Given the description of an element on the screen output the (x, y) to click on. 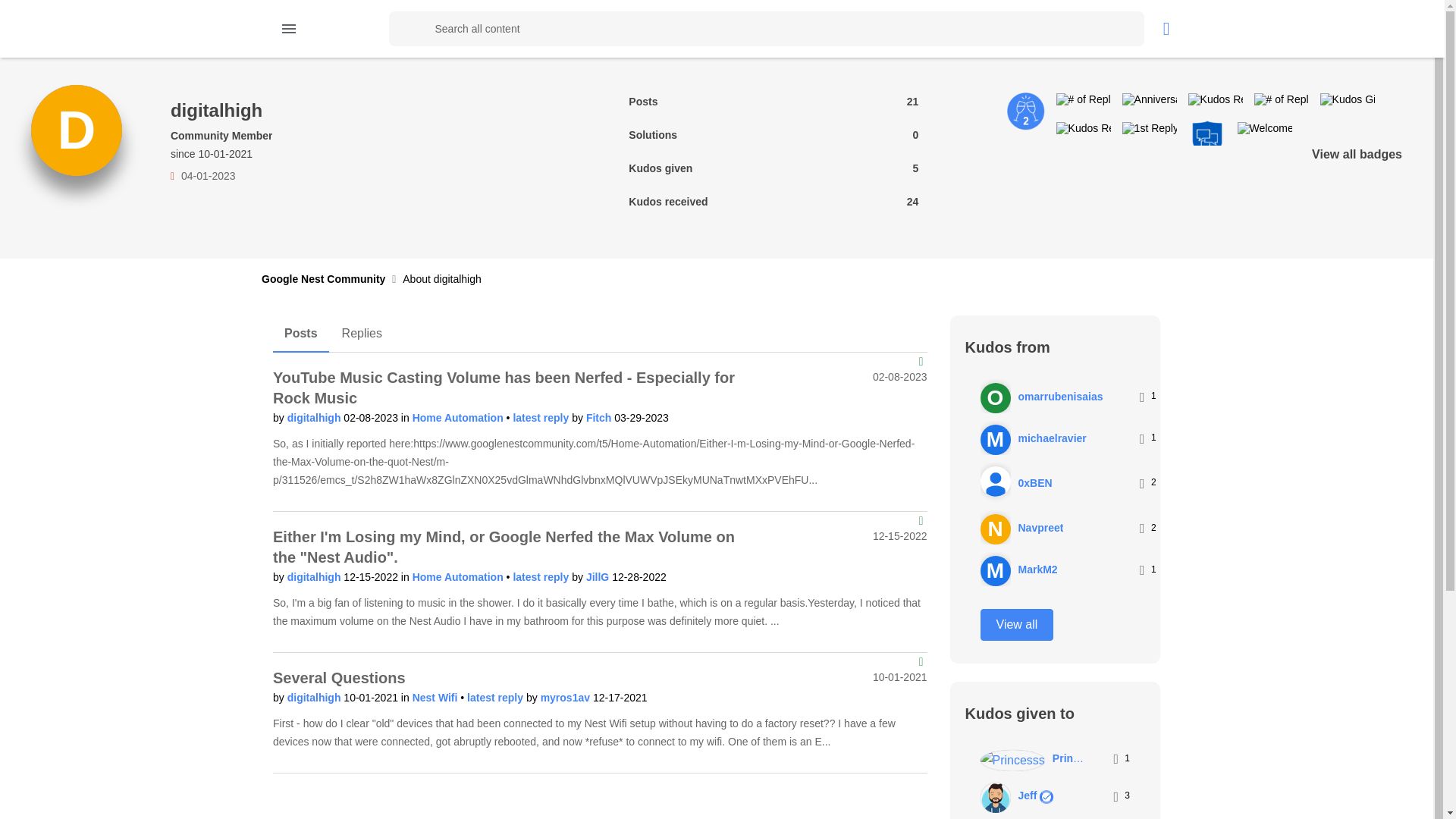
myros1av (566, 697)
digitalhigh (314, 697)
Search (405, 29)
Search (405, 29)
Anniversary 2 (1026, 111)
Home Automation (459, 417)
Several Questions (339, 677)
Search (765, 28)
digitalhigh (314, 576)
